Given the description of an element on the screen output the (x, y) to click on. 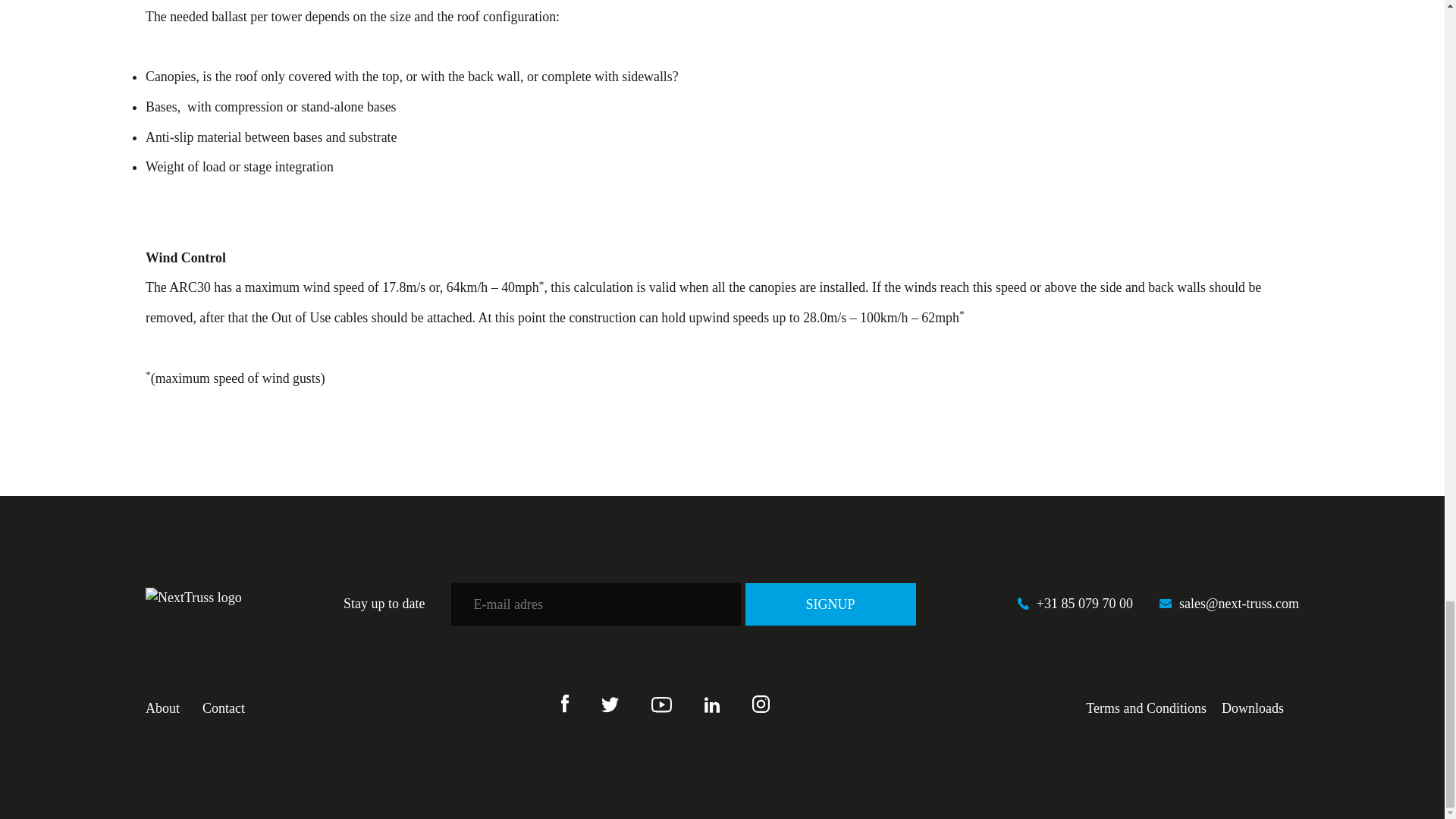
About (162, 708)
Downloads (1252, 708)
Terms and Conditions (1146, 708)
Contact (223, 708)
SIGNUP (830, 604)
